Given the description of an element on the screen output the (x, y) to click on. 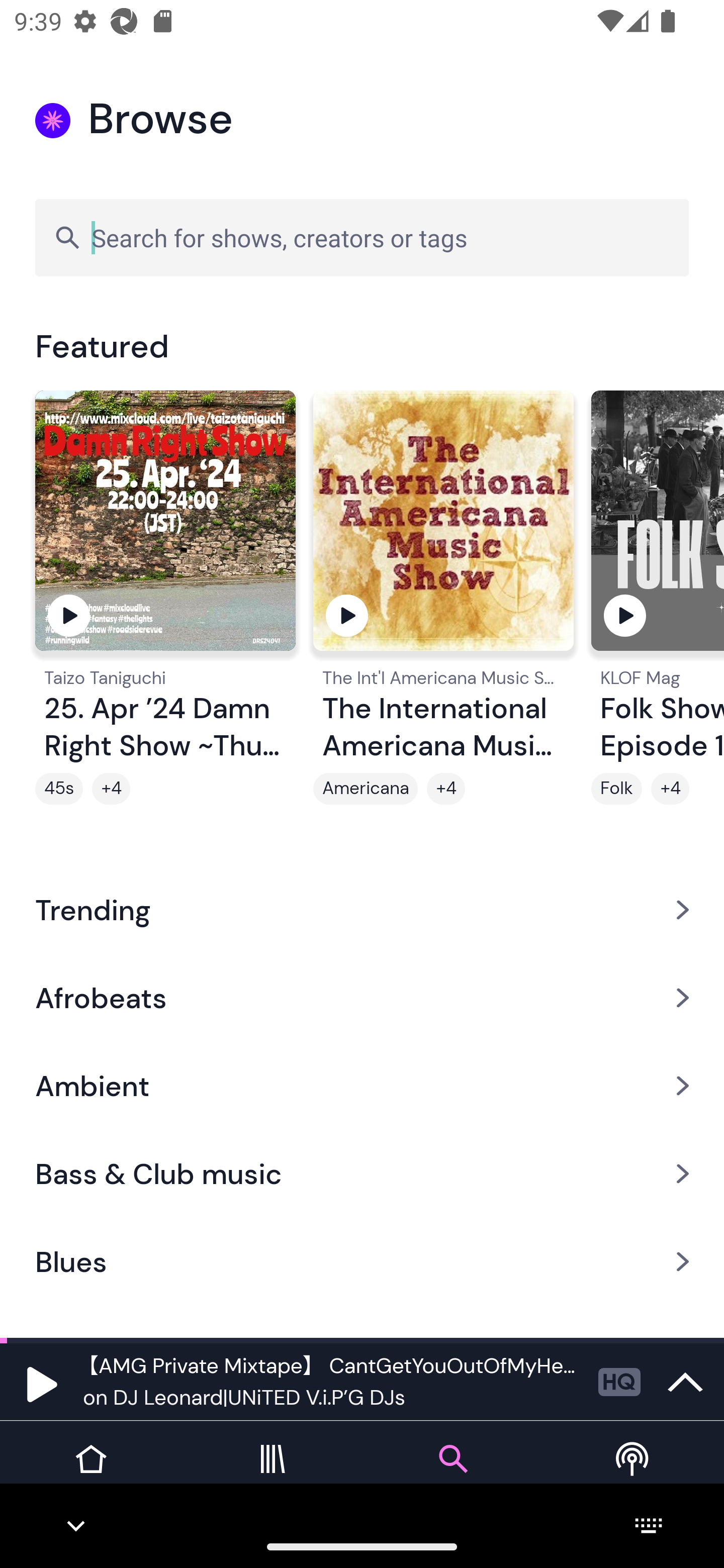
Search for shows, creators or tags (361, 237)
45s (59, 788)
Americana (365, 788)
Folk (616, 788)
Trending (361, 909)
Afrobeats (361, 997)
Ambient (361, 1085)
Bass & Club music (361, 1174)
Blues (361, 1262)
Home tab (90, 1473)
Library tab (271, 1473)
Browse tab (452, 1473)
Live tab (633, 1473)
